Given the description of an element on the screen output the (x, y) to click on. 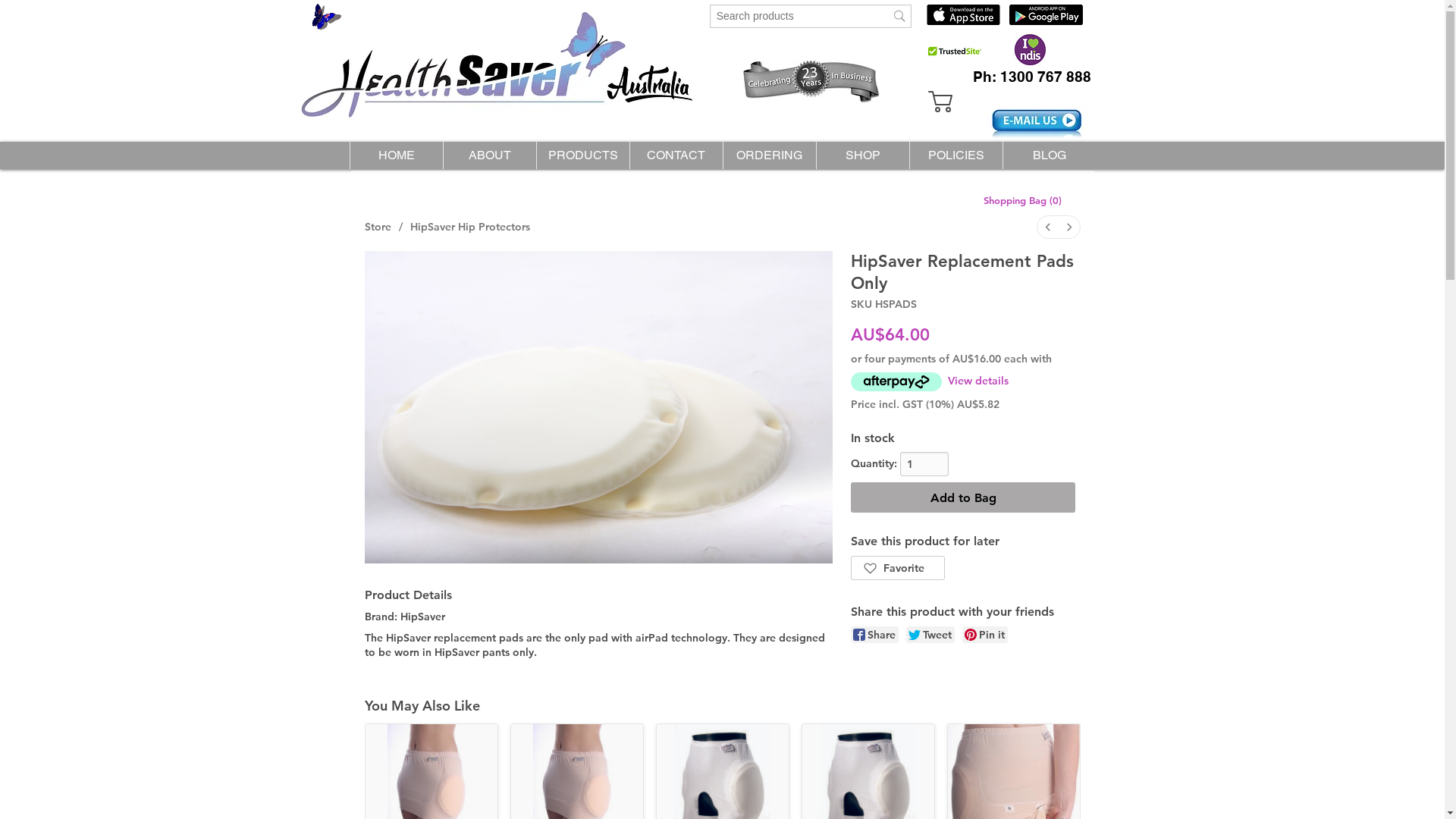
ORDERING Element type: text (768, 155)
BLOG Element type: text (1048, 155)
SHOP Element type: text (862, 155)
HOME Element type: text (395, 155)
CONTACT Element type: text (675, 155)
POLICIES Element type: text (954, 155)
ABOUT Element type: text (489, 155)
Online Store Element type: hover (810, 27)
Online Store Element type: hover (951, 86)
